Given the description of an element on the screen output the (x, y) to click on. 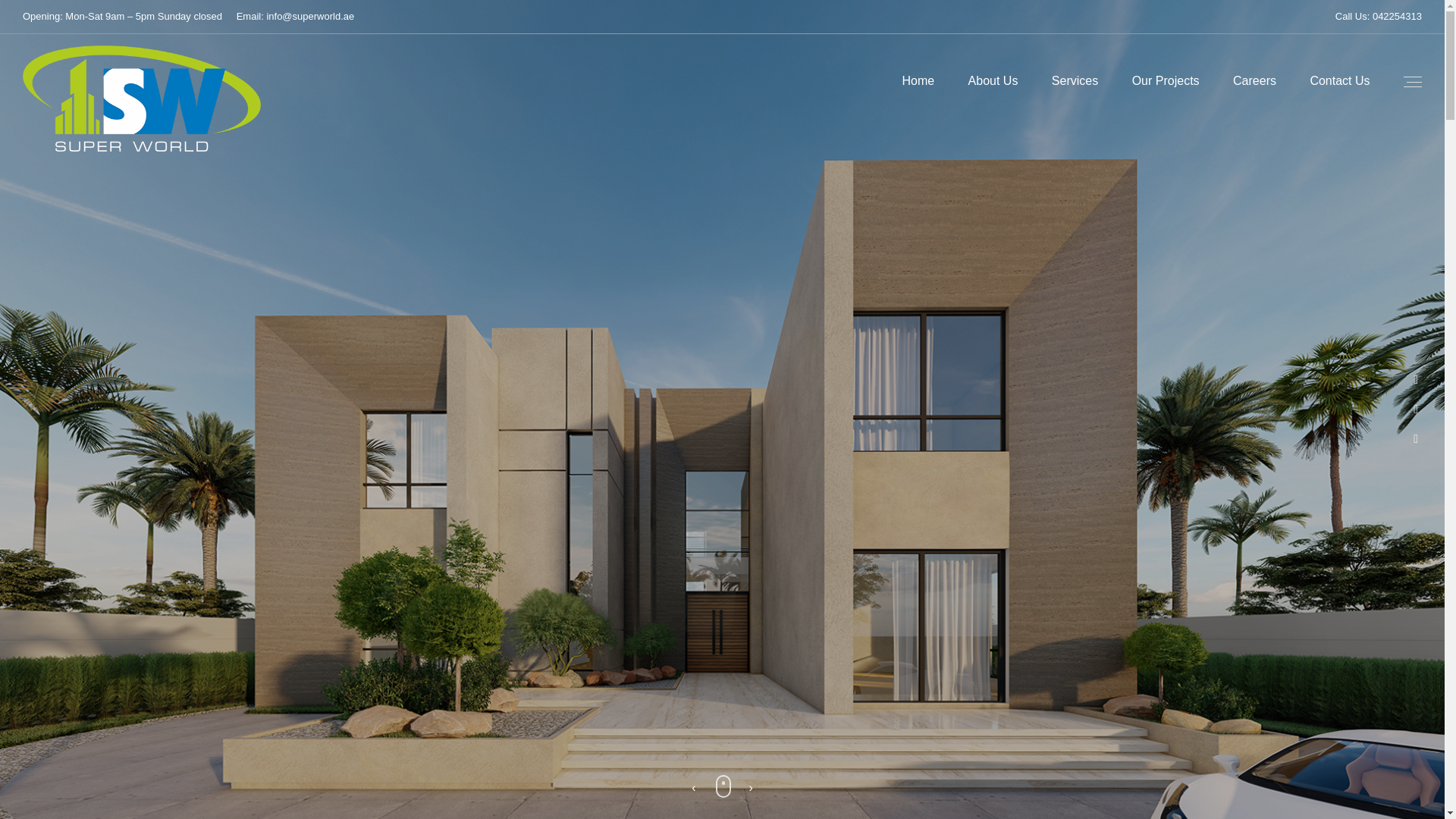
Services (1074, 80)
Careers (1254, 80)
Home (917, 80)
Contact Us (1339, 80)
Our Projects (1165, 80)
042254313 (1397, 16)
About Us (993, 80)
